Given the description of an element on the screen output the (x, y) to click on. 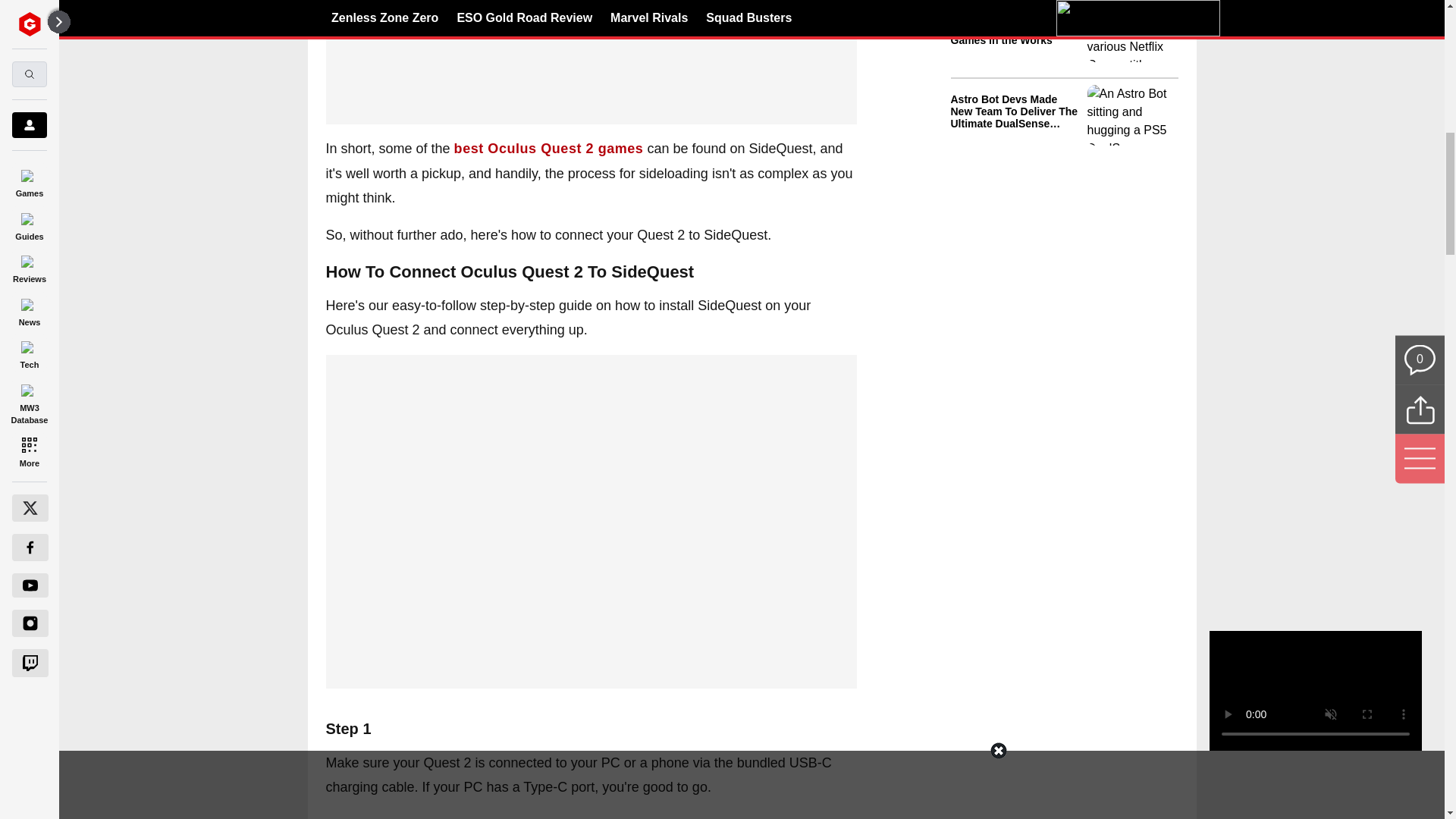
3rd party ad content (1063, 256)
3rd party ad content (591, 373)
